Given the description of an element on the screen output the (x, y) to click on. 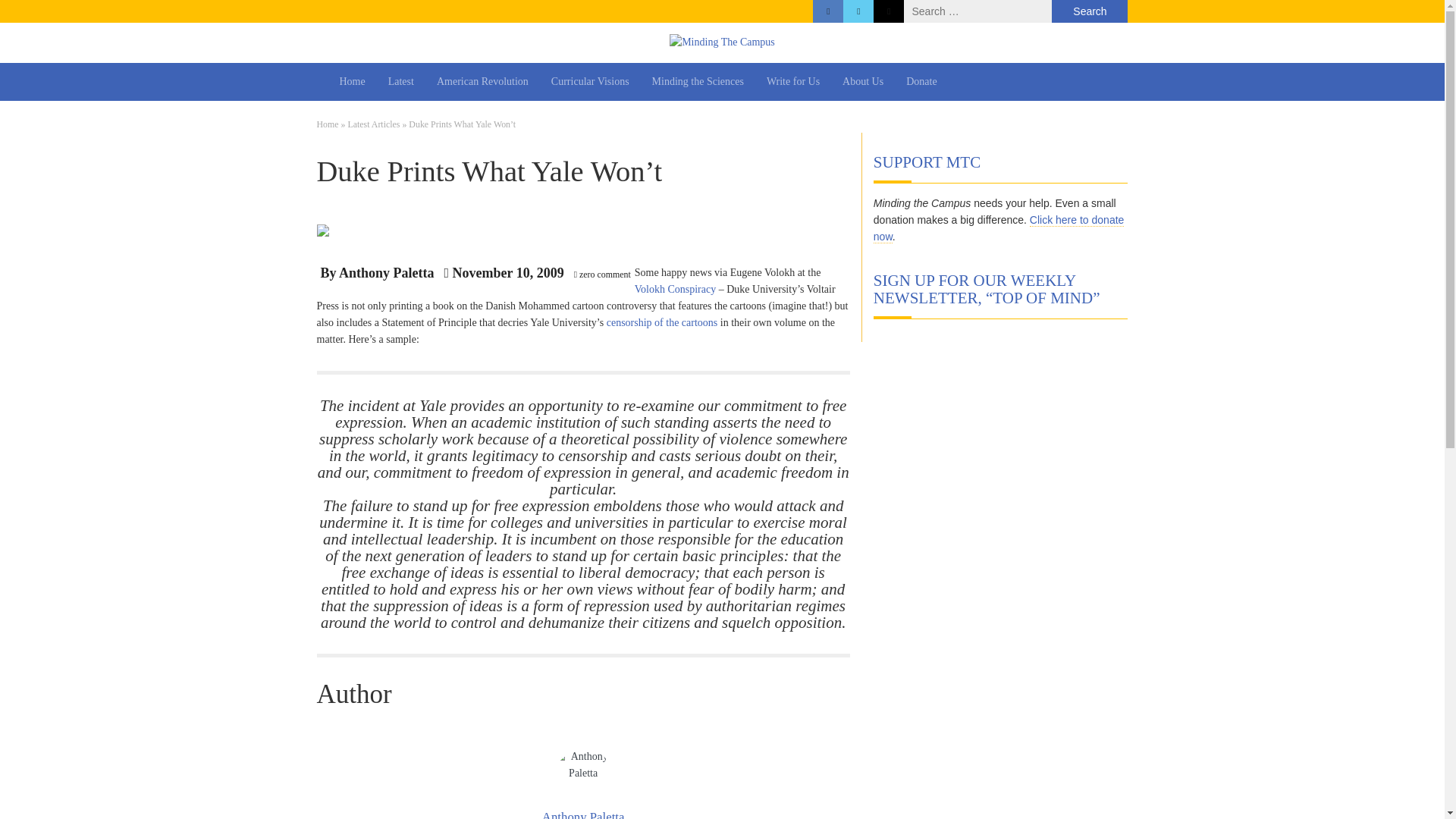
Minding the Sciences (697, 81)
Volokh Conspiracy (675, 288)
By Anthony Paletta (376, 274)
American Revolution (482, 81)
Search (1088, 11)
Anthony Paletta (582, 814)
Click here to donate now (998, 228)
Curricular Visions (590, 81)
Donate (921, 81)
American Revolution (482, 81)
